Given the description of an element on the screen output the (x, y) to click on. 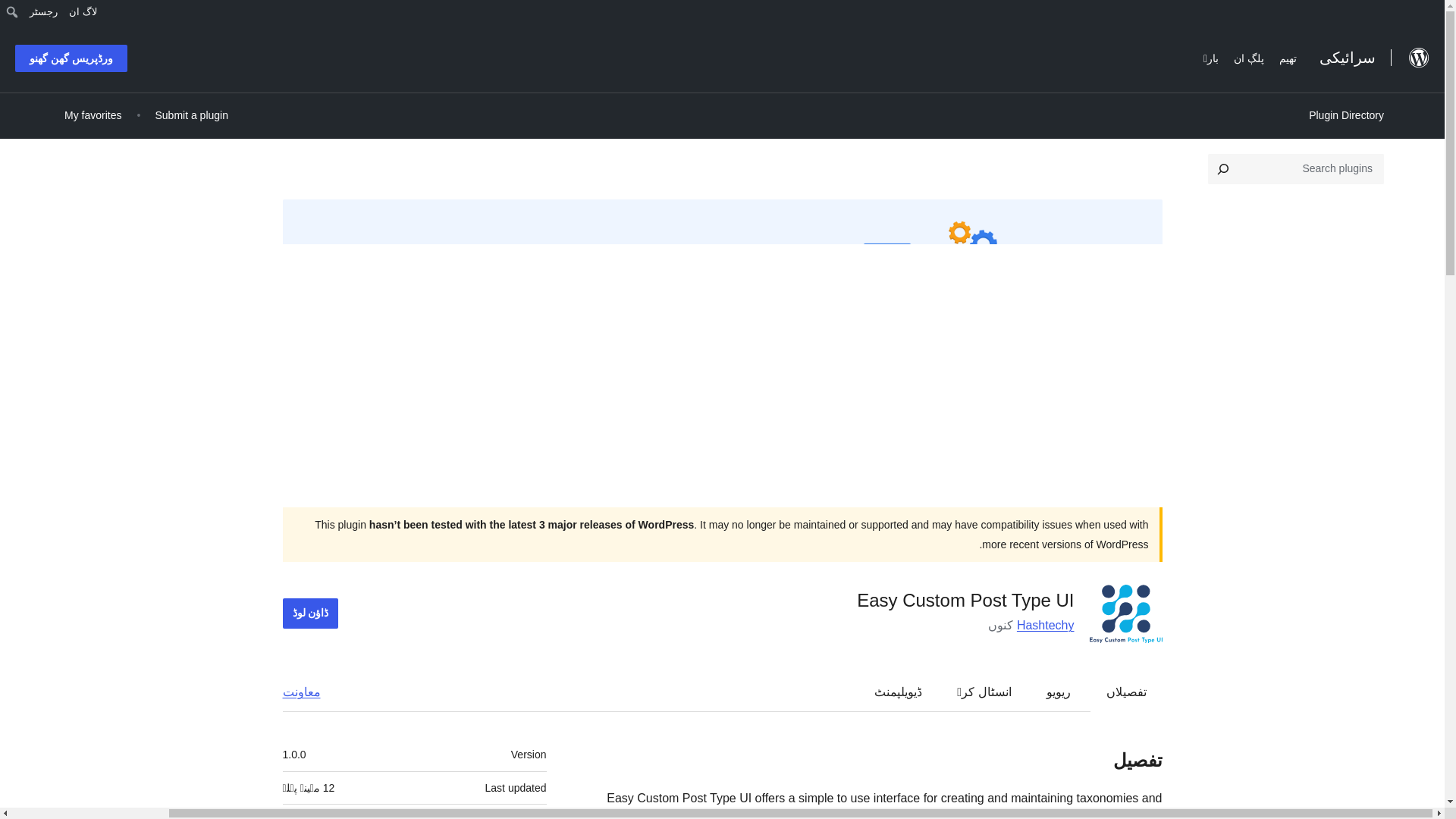
Hashtechy (1045, 625)
Plugin Directory (1345, 115)
My favorites (93, 115)
Submit a plugin (191, 115)
